Given the description of an element on the screen output the (x, y) to click on. 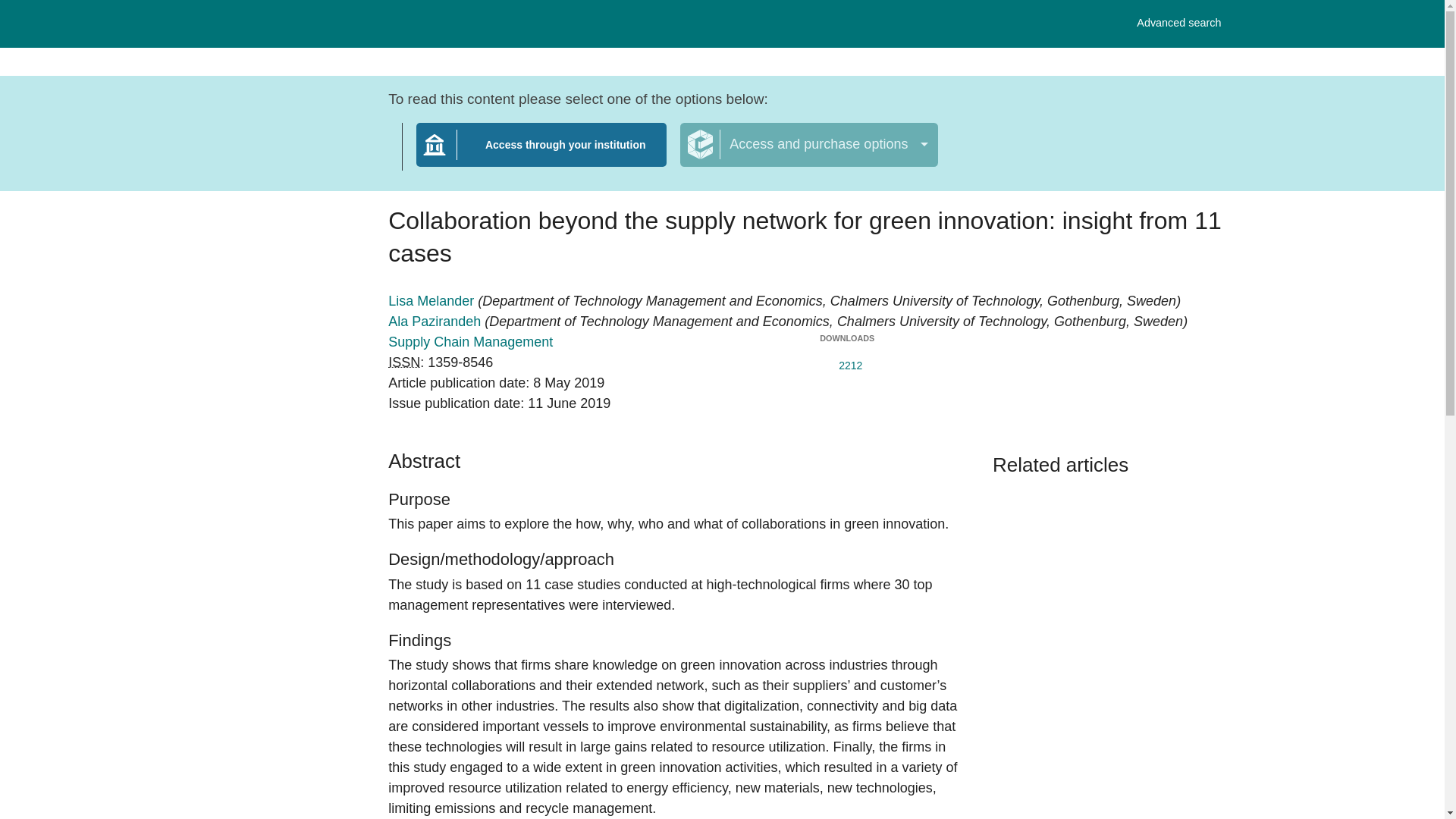
This item has been downloaded 2212 times since 2019. (846, 362)
Supply Chain Management (1178, 23)
Ala Pazirandeh (470, 341)
Access through your institution (436, 321)
International Standard Serial Number. (541, 153)
Access and purchase options (404, 362)
Lisa Melander (808, 144)
